Given the description of an element on the screen output the (x, y) to click on. 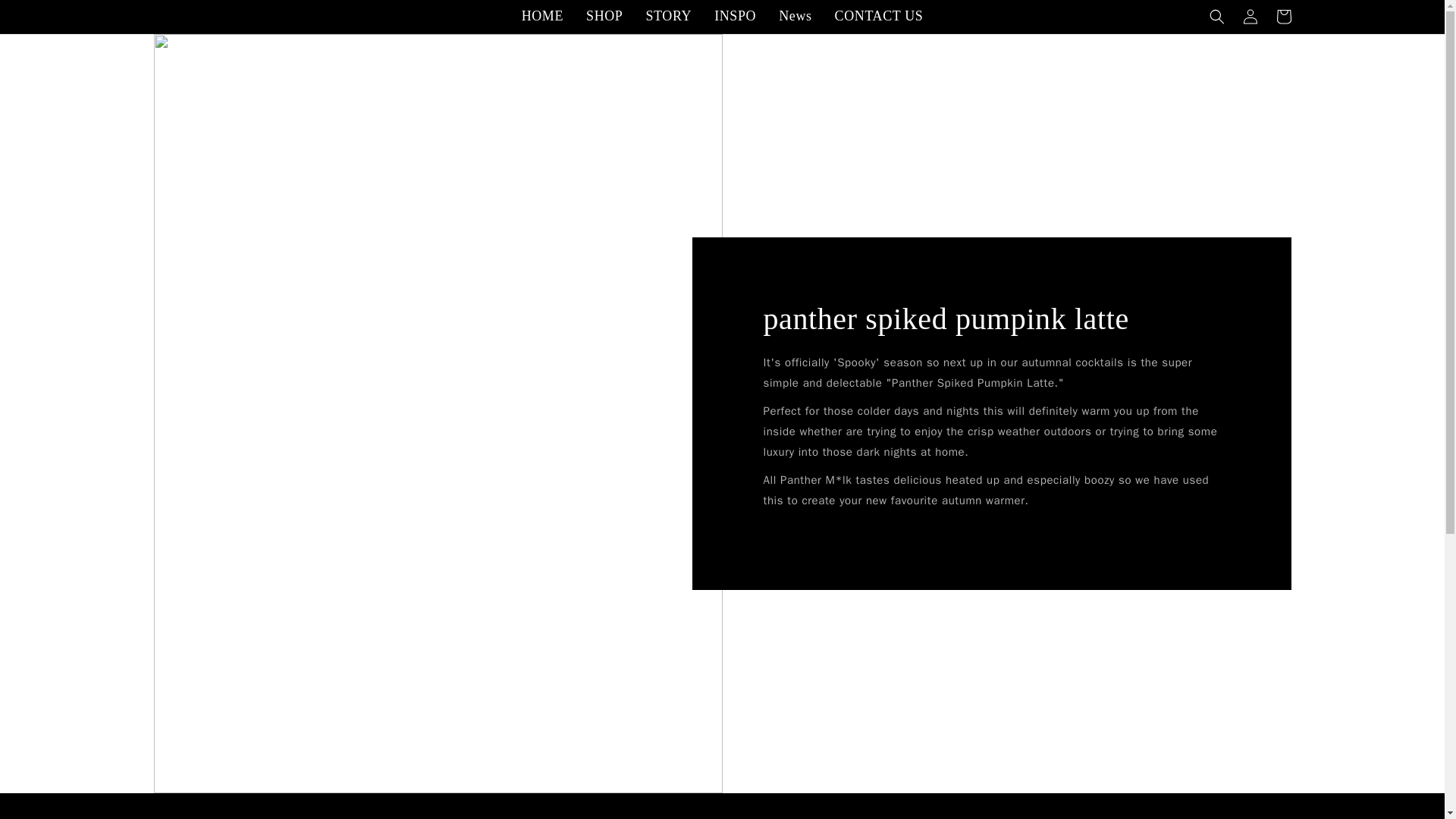
INSPO (735, 16)
HOME (543, 16)
Cart (1283, 16)
Log in (1249, 16)
Skip to content (45, 17)
CONTACT US (879, 16)
STORY (668, 16)
SHOP (604, 16)
News (794, 16)
